Given the description of an element on the screen output the (x, y) to click on. 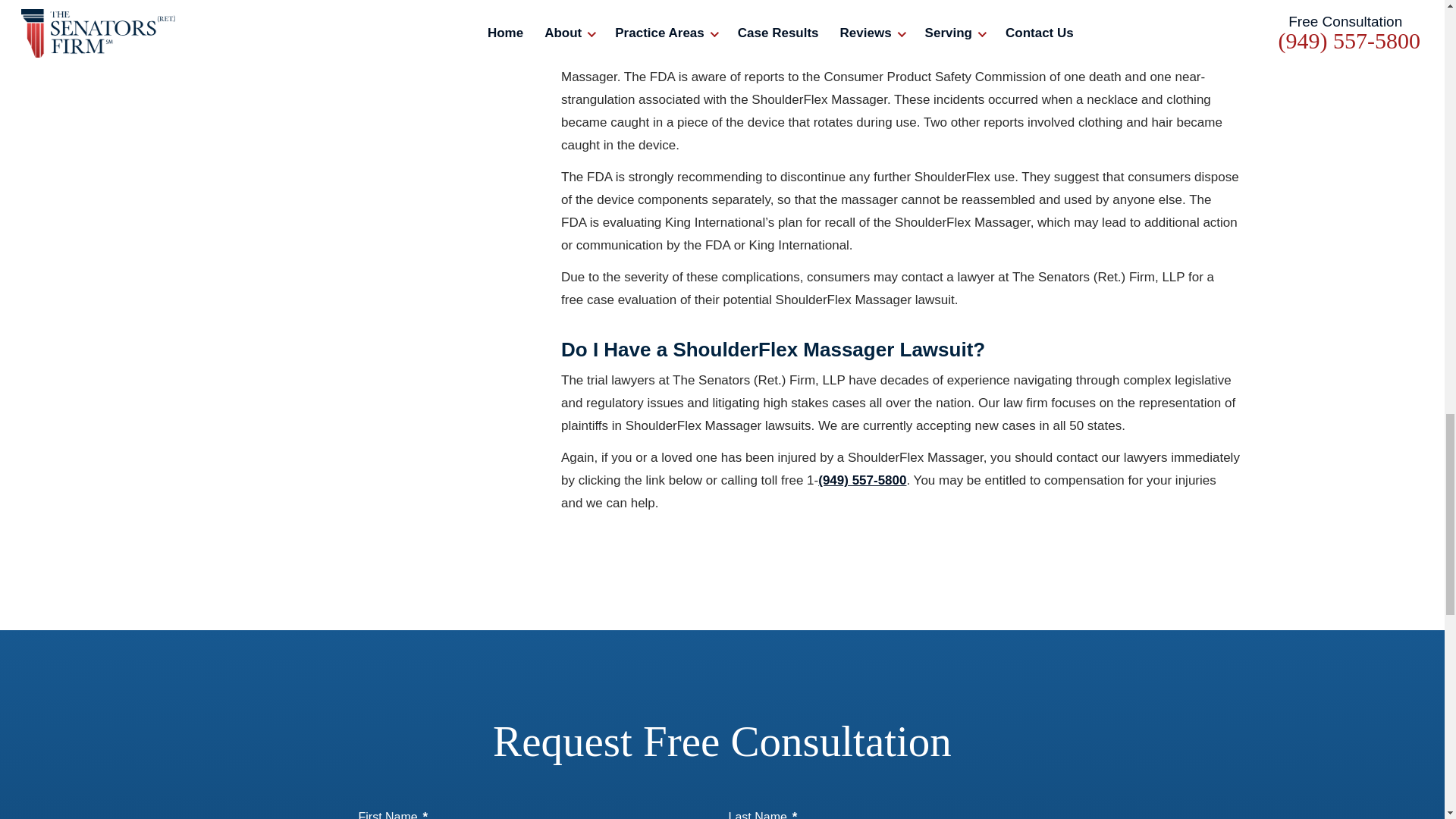
FDA warning (679, 22)
